Given the description of an element on the screen output the (x, y) to click on. 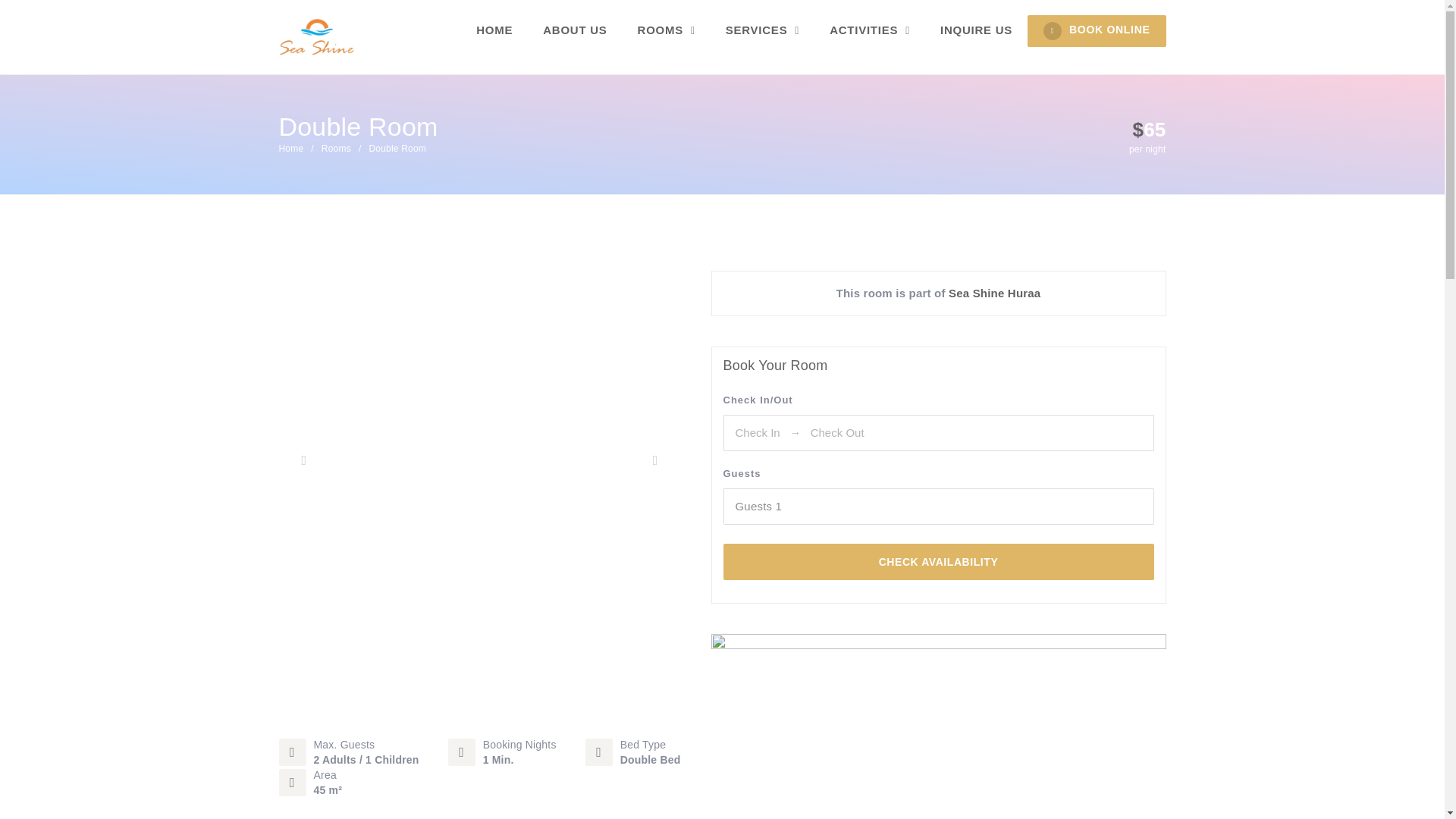
SERVICES (761, 30)
ABOUT US (574, 30)
ACTIVITIES (868, 30)
Sea Shine Huraa (995, 292)
HOME (494, 30)
ROOMS (666, 30)
CHECK AVAILABILITY (938, 561)
Rooms (335, 148)
INQUIRE US (975, 30)
BOOK ONLINE (1096, 30)
